Given the description of an element on the screen output the (x, y) to click on. 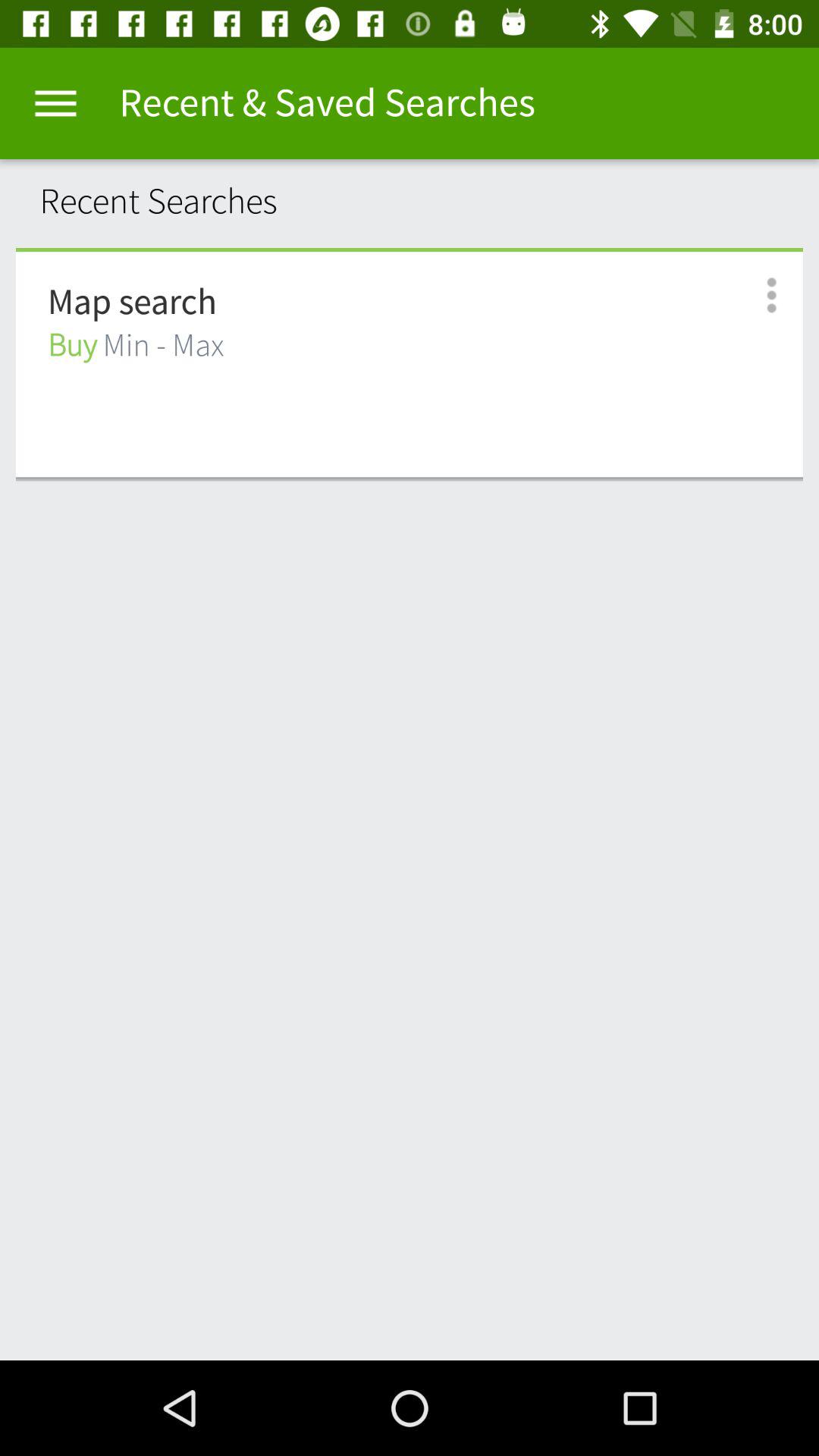
turn on buy min - max (135, 345)
